Given the description of an element on the screen output the (x, y) to click on. 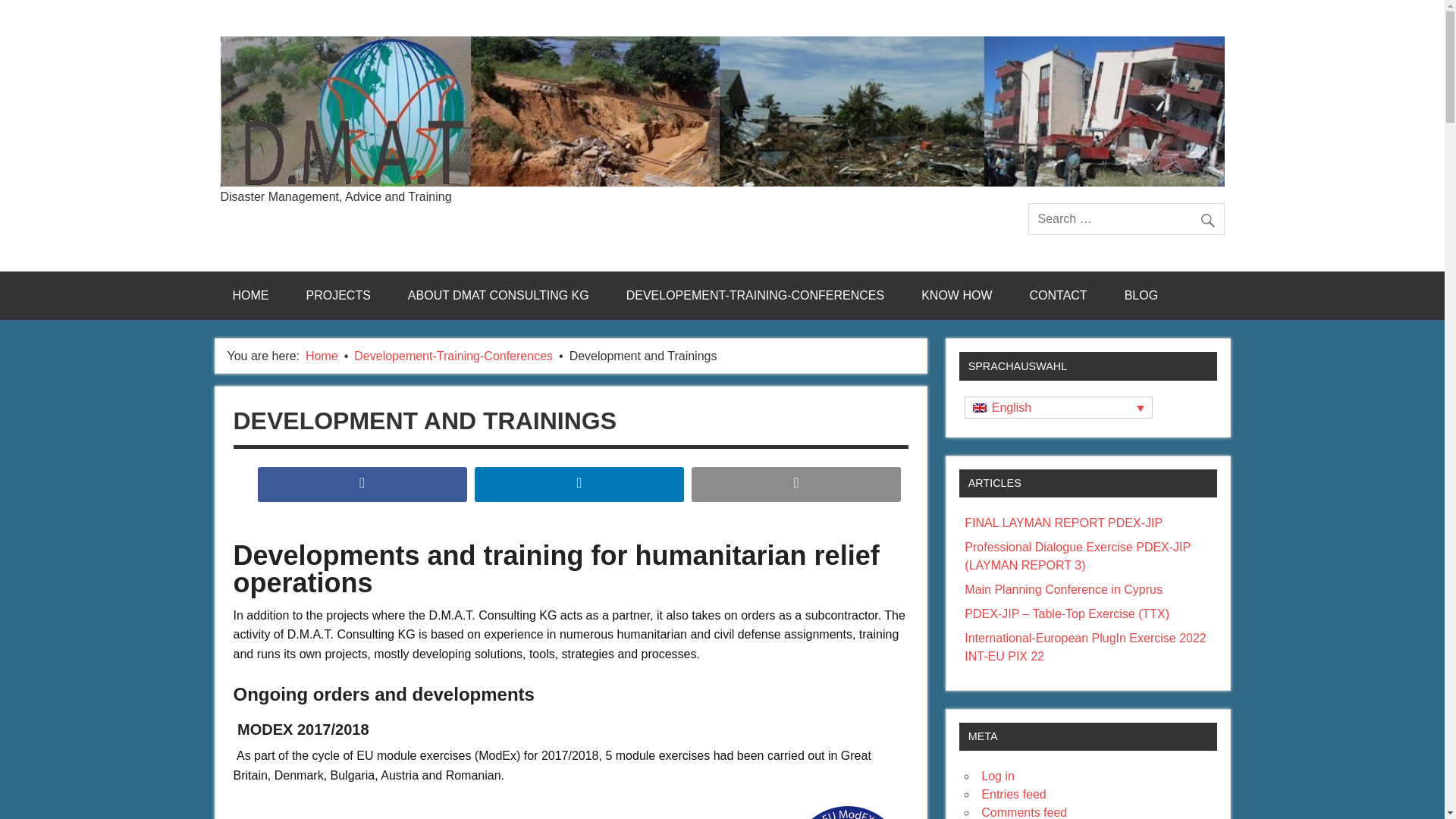
LinkedIn (579, 484)
PROJECTS (338, 295)
HOME (250, 295)
ABOUT DMAT CONSULTING KG (498, 295)
Main Planning Conference in Cyprus (1062, 589)
KNOW HOW (956, 295)
D.M.A.T. (278, 201)
Facebook (362, 484)
BLOG (1141, 295)
Developement-Training-Conferences (453, 355)
FINAL LAYMAN REPORT PDEX-JIP (1062, 522)
Home (321, 355)
Email (796, 484)
CONTACT (1058, 295)
DEVELOPEMENT-TRAINING-CONFERENCES (755, 295)
